Given the description of an element on the screen output the (x, y) to click on. 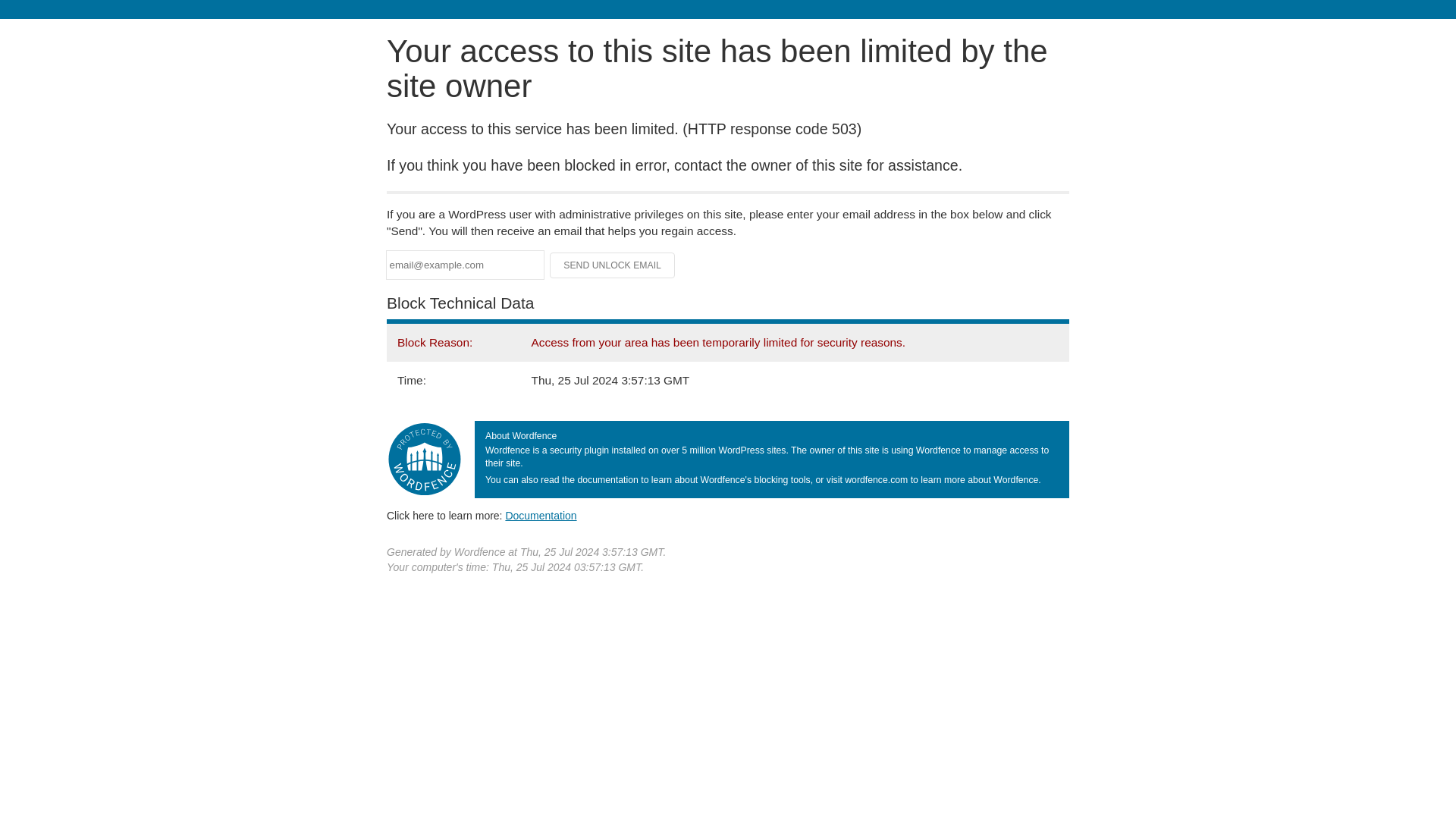
Send Unlock Email (612, 265)
Send Unlock Email (612, 265)
Documentation (540, 515)
